Given the description of an element on the screen output the (x, y) to click on. 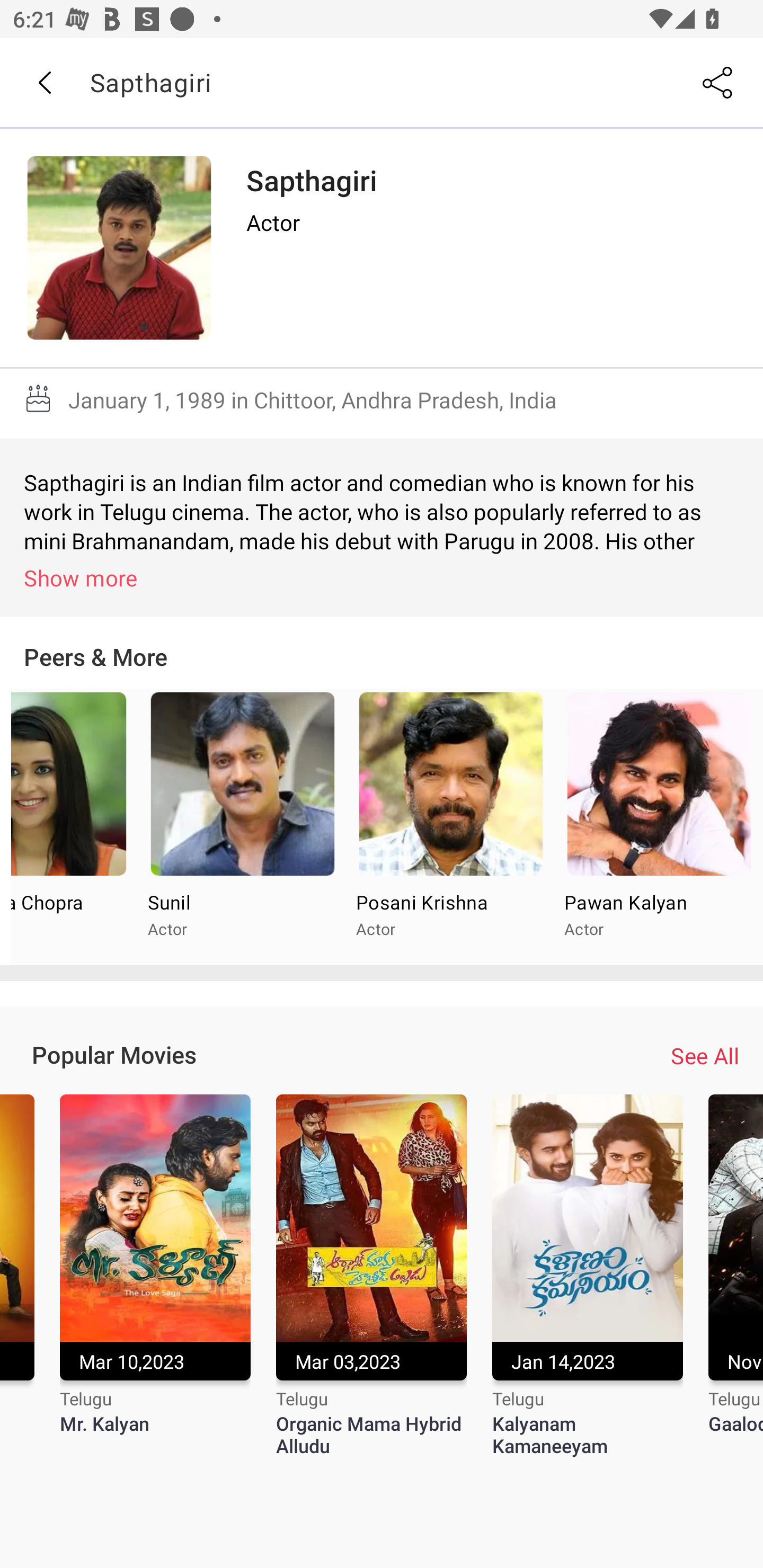
Back (44, 82)
Show more (384, 577)
Mannara Chopra Actor (74, 826)
Sunil Actor (242, 826)
Posani Krishna Murali Actor (450, 826)
Pawan Kalyan Actor (658, 826)
See All (704, 1055)
Mar 10,2023 Telugu Mr. Kalyan (154, 1276)
Mar 03,2023 Telugu Organic Mama Hybrid Alludu (371, 1276)
Jan 14,2023 Telugu Kalyanam Kamaneeyam (587, 1276)
